Given the description of an element on the screen output the (x, y) to click on. 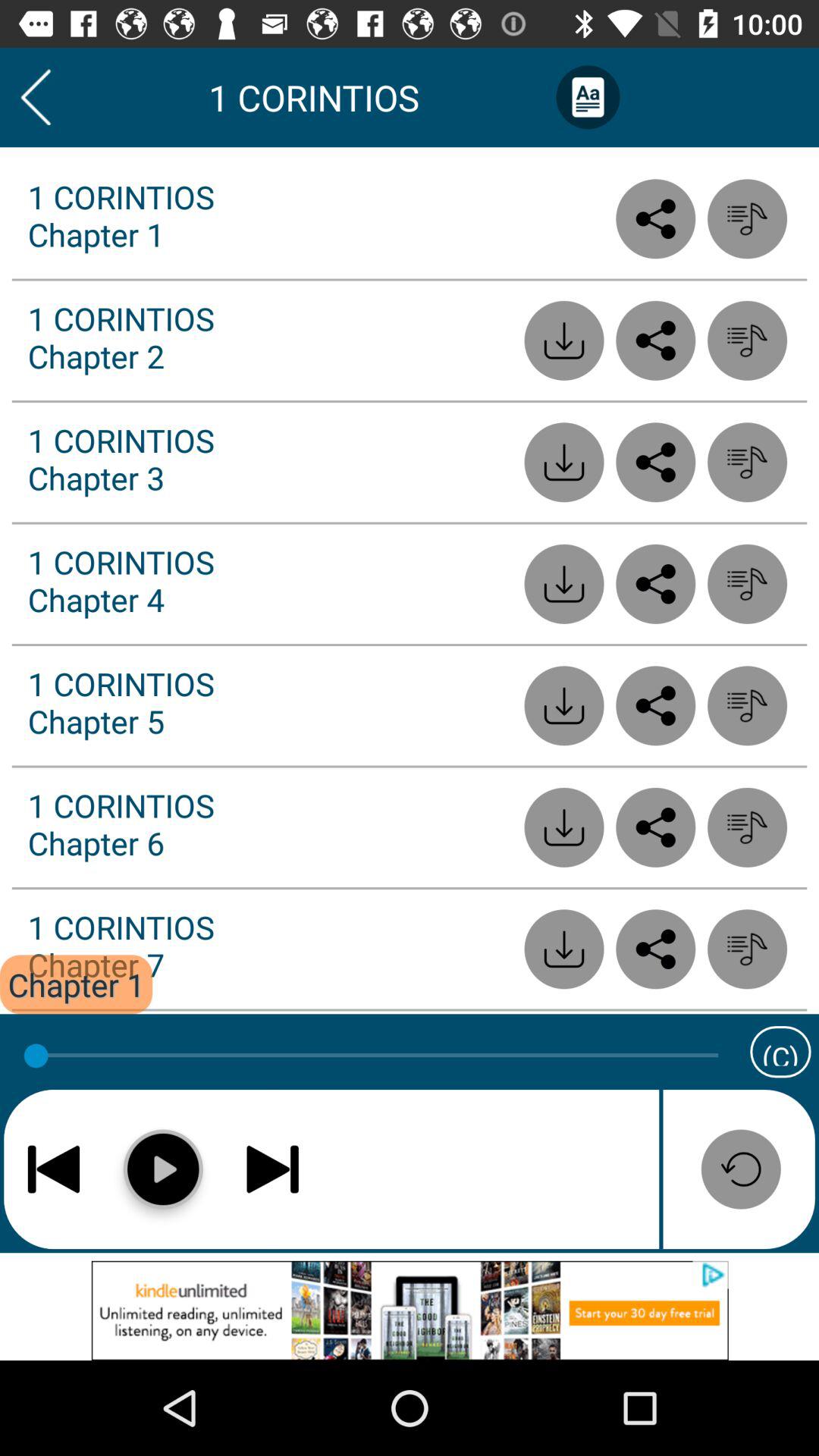
play list optioon (747, 340)
